Given the description of an element on the screen output the (x, y) to click on. 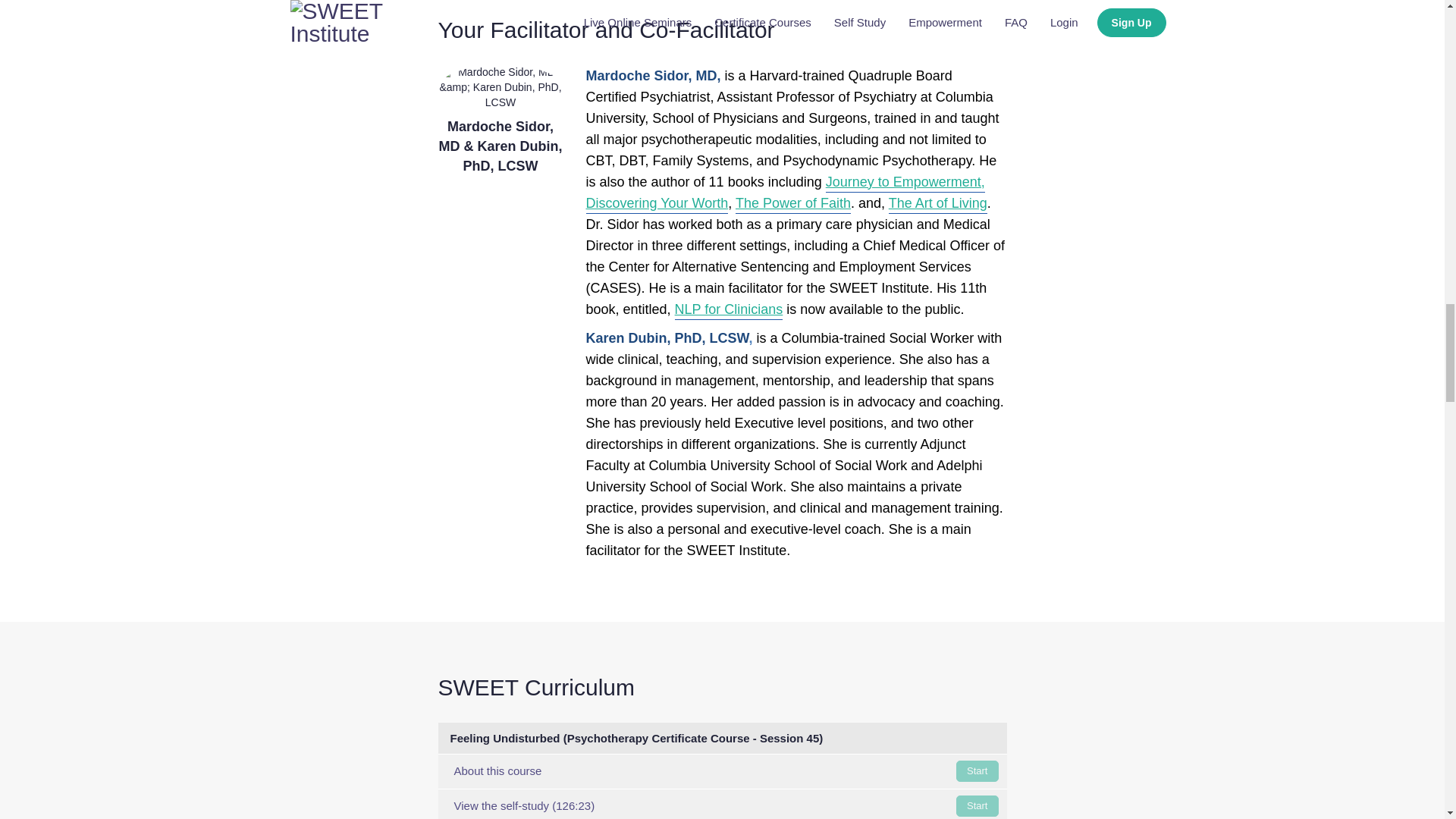
Discovering Your Worth (656, 204)
The Power of Faith (792, 204)
NLP for Clinicians (729, 311)
The Art of Living (722, 771)
Journey to Empowerment, (937, 204)
